Given the description of an element on the screen output the (x, y) to click on. 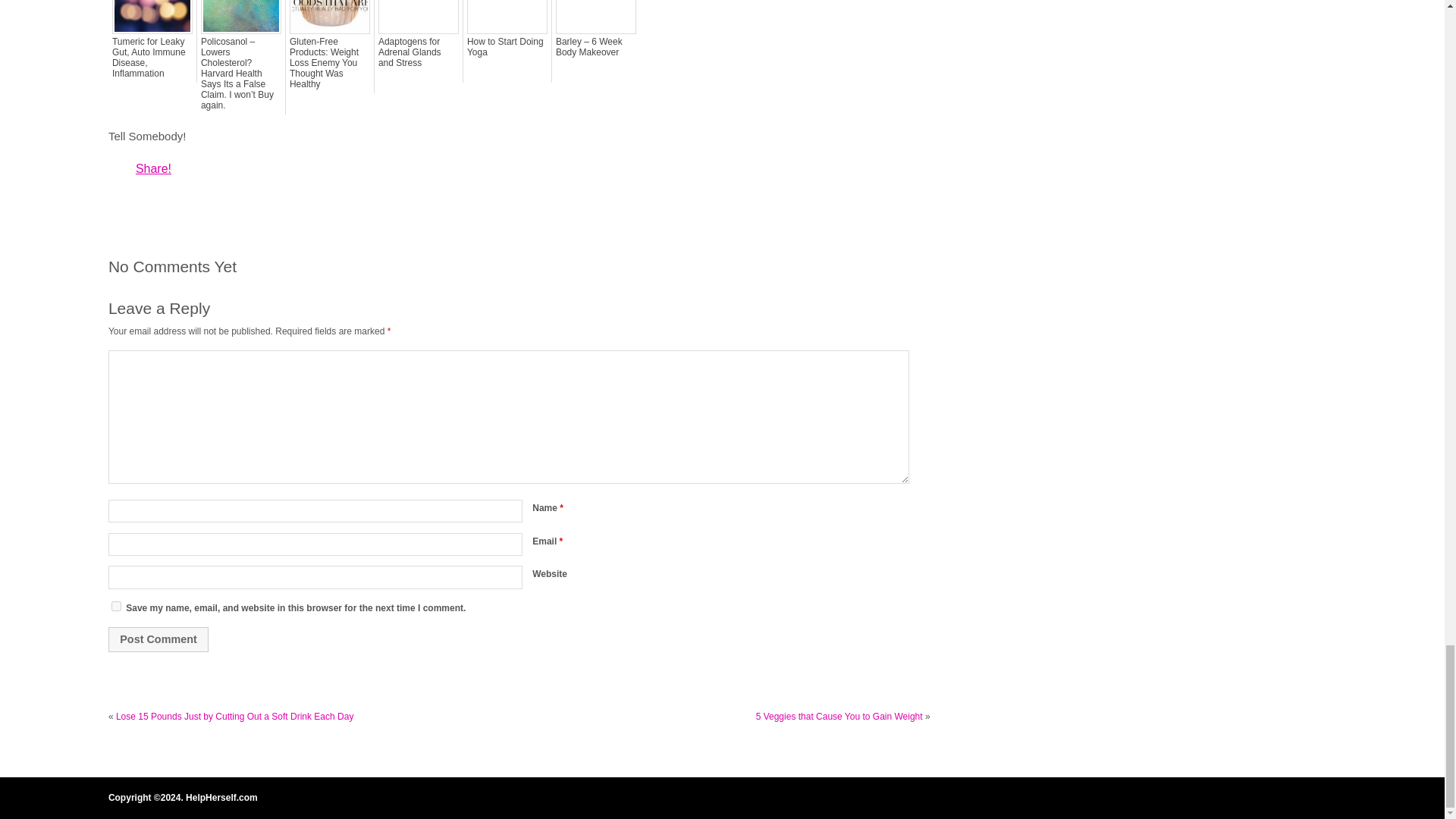
Share! (153, 168)
Adaptogens for Adrenal Glands and Stress (418, 51)
Lose 15 Pounds Just by Cutting Out a Soft Drink Each Day (234, 716)
yes (116, 605)
Post Comment (157, 639)
5 Veggies that Cause You to Gain Weight (839, 716)
How to Start Doing Yoga (507, 46)
Post Comment (157, 639)
Tumeric for Leaky Gut, Auto Immune Disease, Inflammation (152, 57)
